Given the description of an element on the screen output the (x, y) to click on. 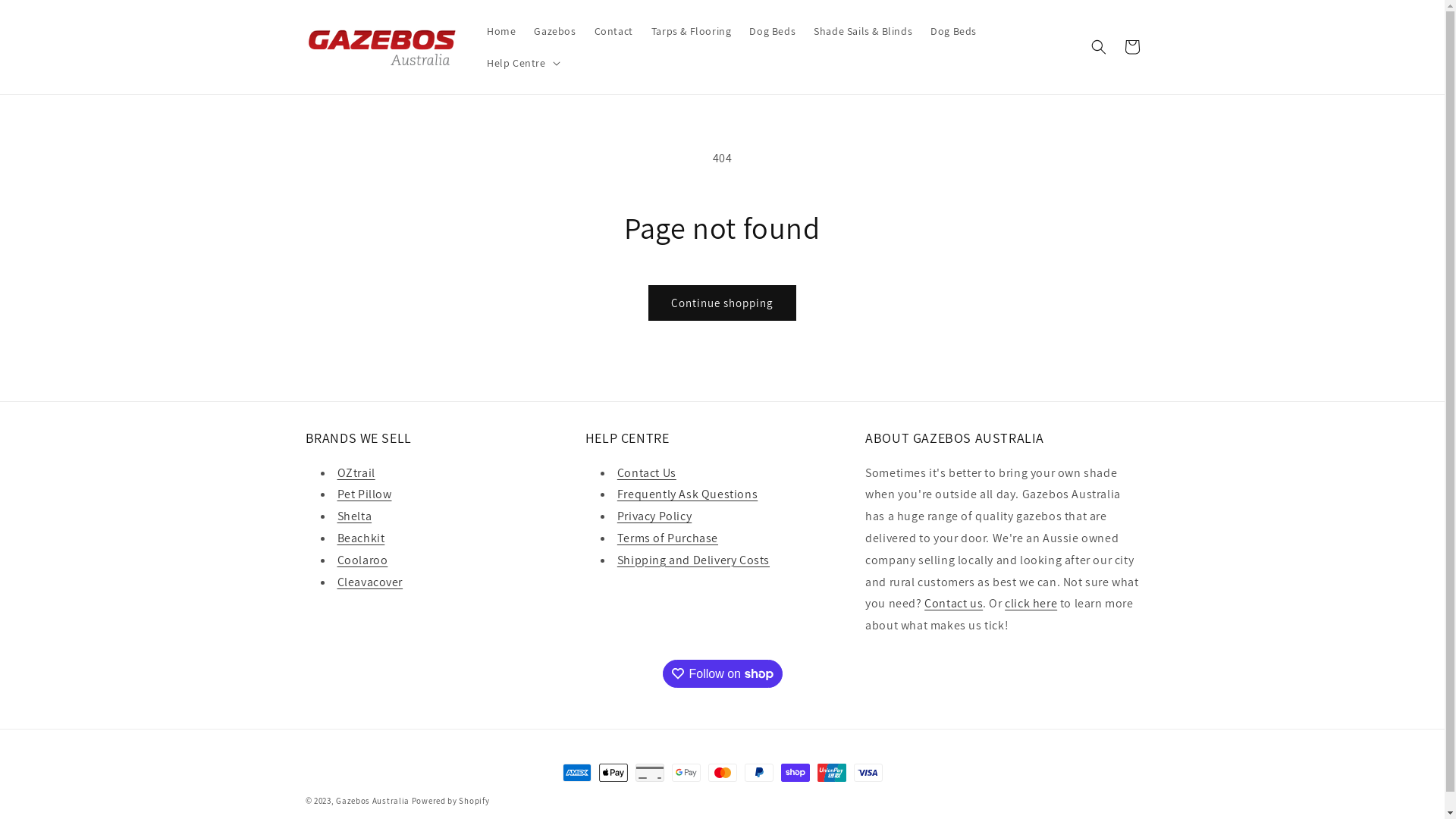
click here Element type: text (1030, 603)
Dog Beds Element type: text (772, 31)
Cart Element type: text (1131, 46)
Beachkit Element type: text (360, 538)
Shipping and Delivery Costs Element type: text (693, 559)
Home Element type: text (500, 31)
Contact Us Element type: text (646, 472)
Continue shopping Element type: text (722, 302)
Contact us Element type: text (953, 603)
Shade Sails & Blinds Element type: text (862, 31)
Privacy Policy Element type: text (654, 516)
Contact Element type: text (613, 31)
Coolaroo Element type: text (361, 559)
Powered by Shopify Element type: text (450, 800)
Shelta Element type: text (353, 516)
Terms of Purchase Element type: text (667, 538)
Gazebos Element type: text (554, 31)
Gazebos Australia Element type: text (372, 800)
Cleavacover Element type: text (369, 581)
Dog Beds Element type: text (953, 31)
Frequently Ask Questions Element type: text (687, 494)
Tarps & Flooring Element type: text (691, 31)
Pet Pillow Element type: text (363, 494)
OZtrail Element type: text (355, 472)
